Given the description of an element on the screen output the (x, y) to click on. 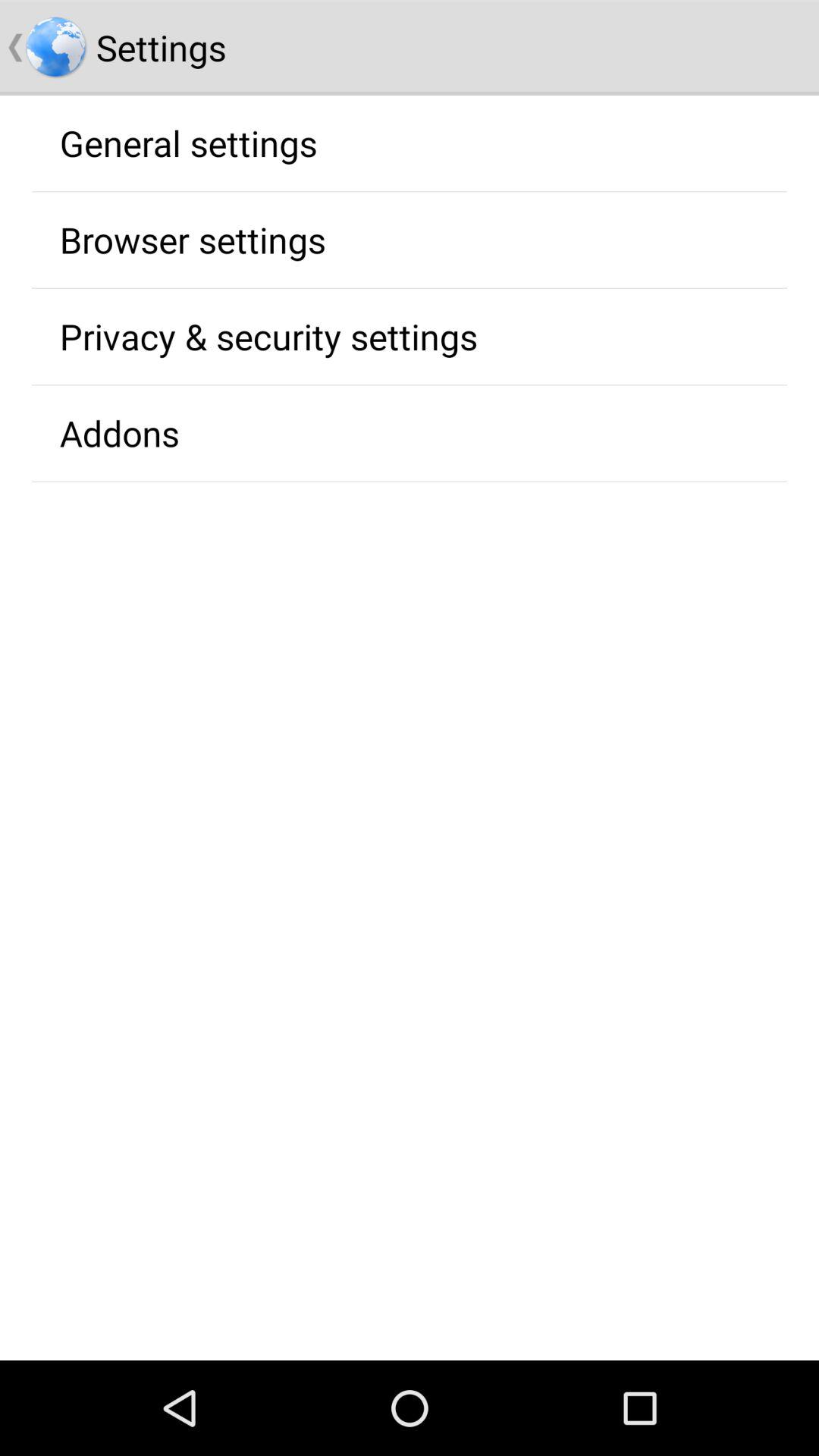
open item below the browser settings app (268, 336)
